Given the description of an element on the screen output the (x, y) to click on. 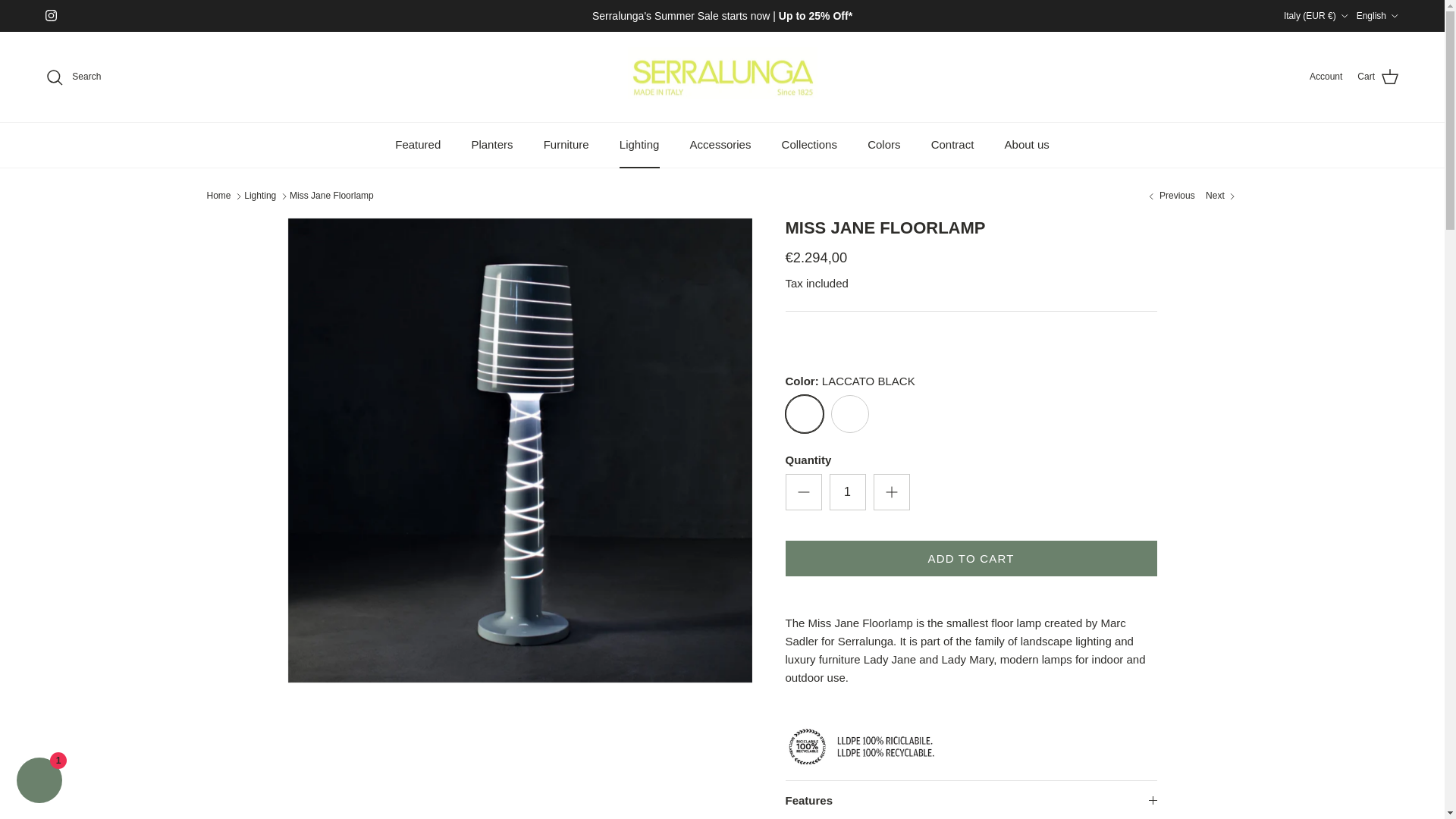
Instagram (50, 15)
Serralunga  (721, 76)
Planters (491, 144)
Account (1325, 76)
Search (72, 76)
Furniture (565, 144)
Pic-Nic Floorlamp (1221, 195)
Cart (1377, 76)
Featured (417, 144)
English (1377, 15)
Shopify online store chat (38, 781)
1 (847, 492)
Lindos Hanging Lamp Moleskin (1169, 195)
Serralunga  on Instagram (50, 15)
